Given the description of an element on the screen output the (x, y) to click on. 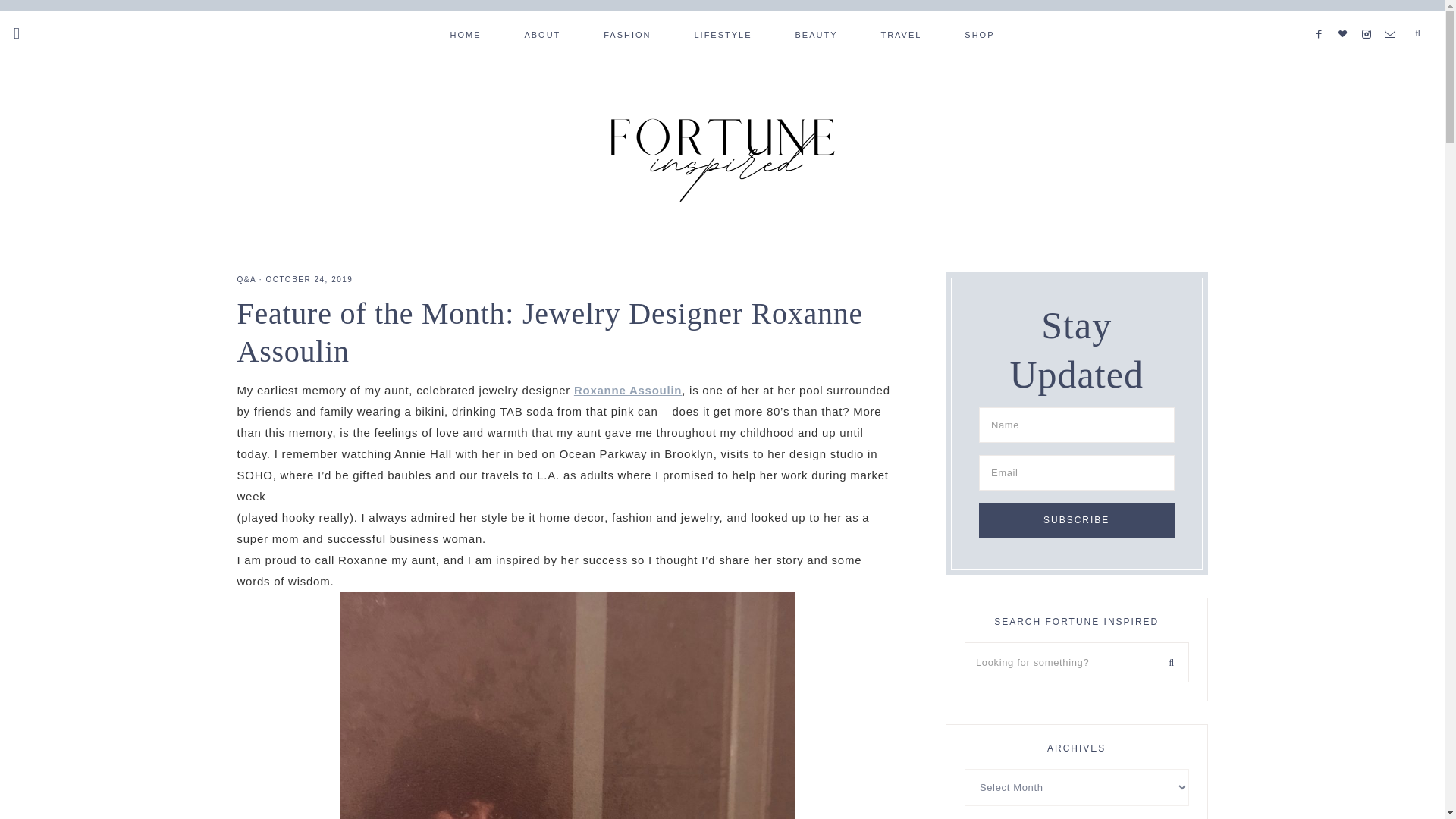
BEAUTY (815, 33)
Facebook (1322, 14)
Email Me (1392, 14)
FASHION (626, 33)
TRAVEL (900, 33)
LIFESTYLE (722, 33)
Instagram (1368, 14)
ABOUT (541, 33)
HOME (465, 33)
Subscribe (1076, 519)
Bloglovin (1346, 14)
